Given the description of an element on the screen output the (x, y) to click on. 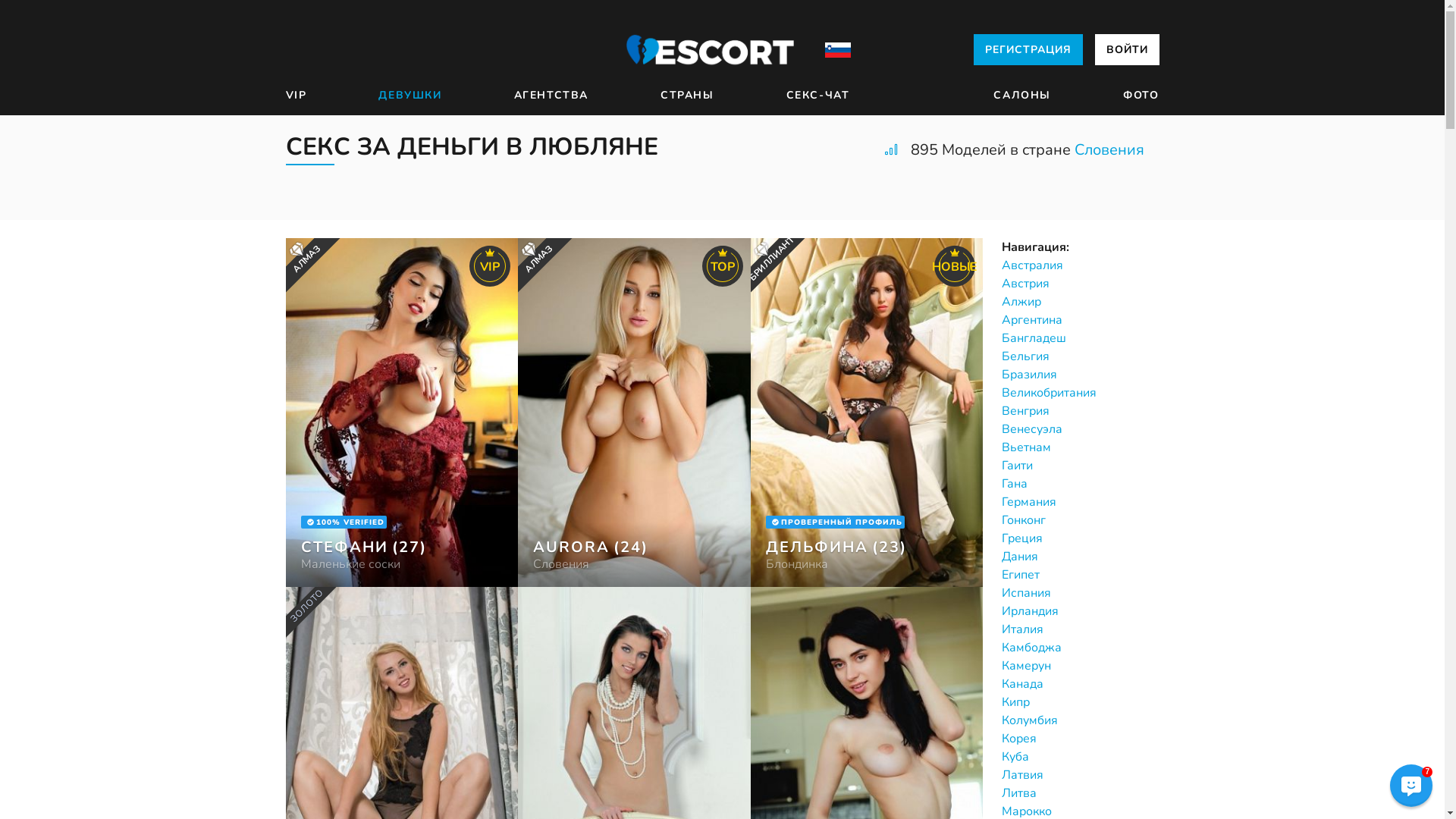
7 Element type: text (1411, 785)
VIP Element type: text (295, 95)
